Given the description of an element on the screen output the (x, y) to click on. 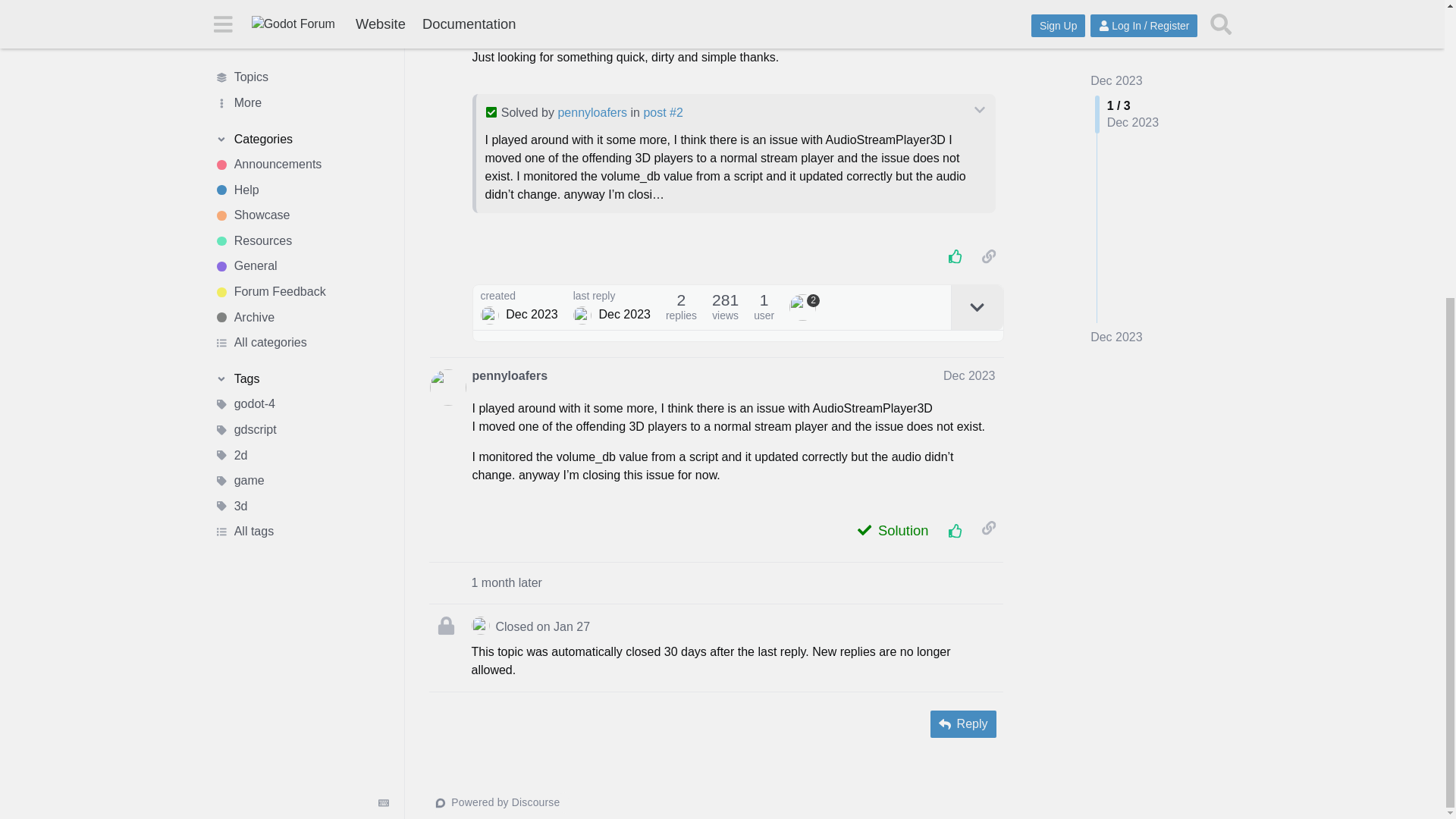
2d (301, 4)
game (301, 21)
All tags (301, 71)
3d (301, 45)
